Given the description of an element on the screen output the (x, y) to click on. 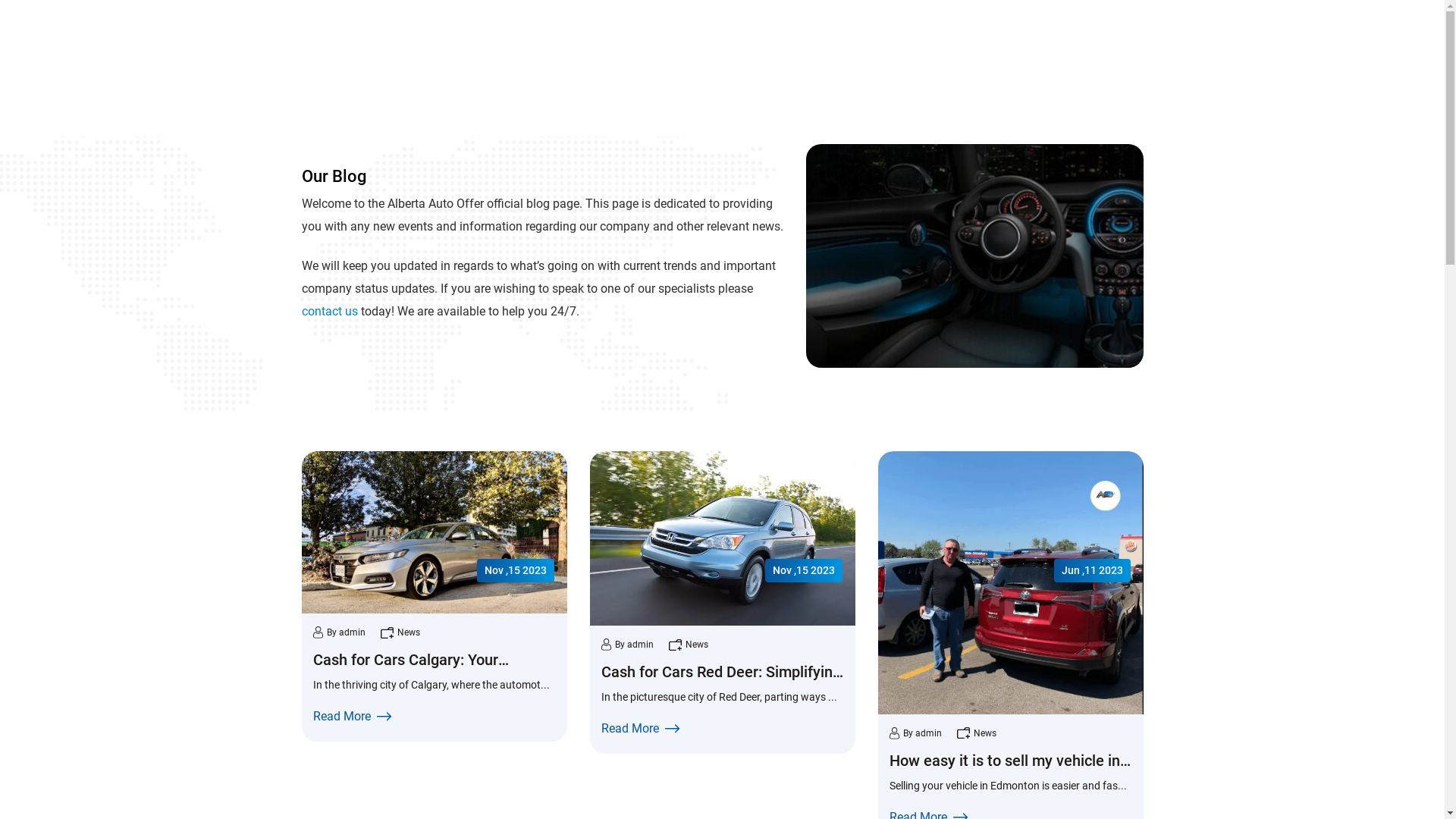
Read More Element type: text (433, 716)
contact us Element type: text (329, 311)
Read More Element type: text (721, 728)
